Given the description of an element on the screen output the (x, y) to click on. 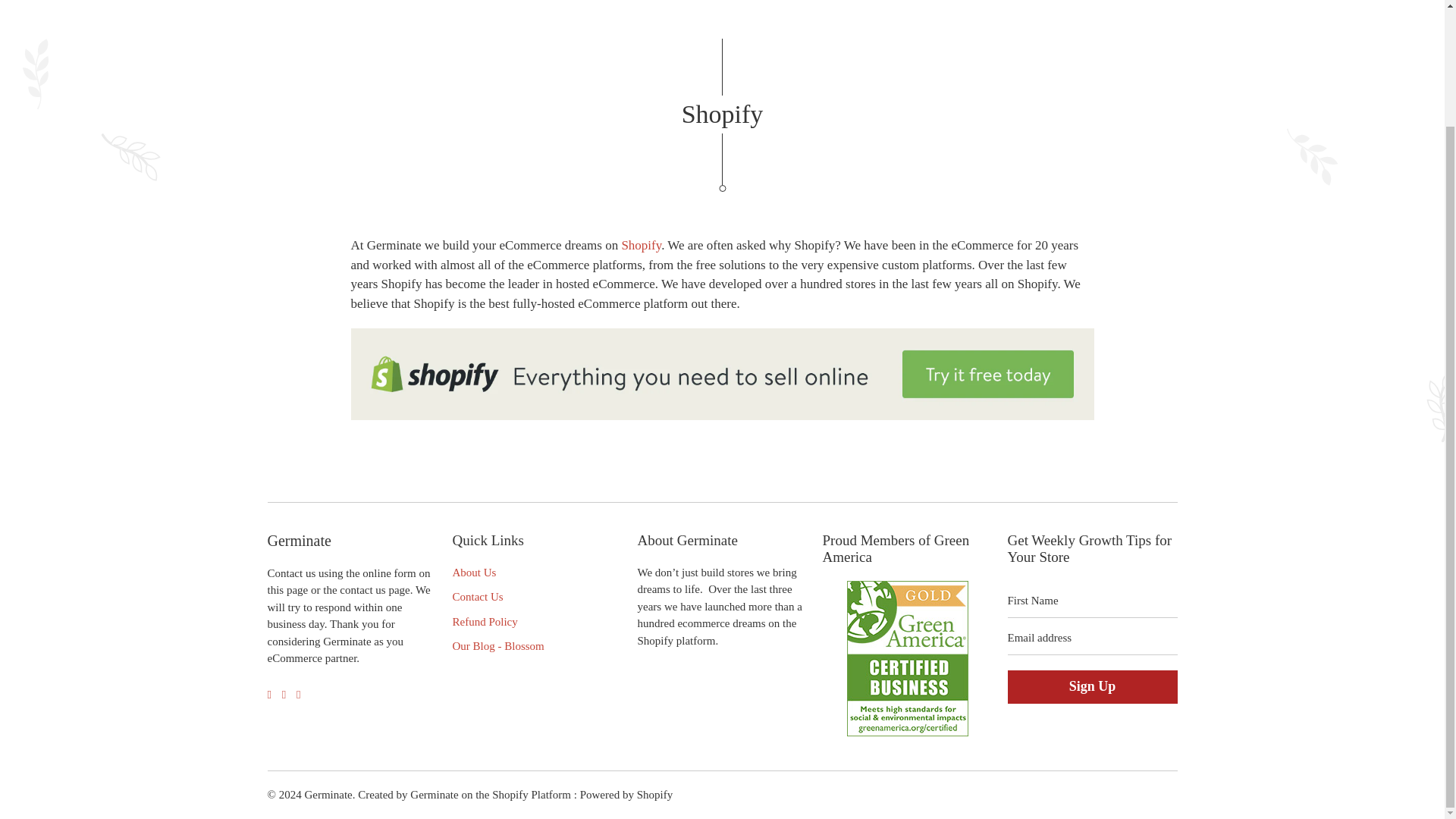
Shopify Free Trial (641, 245)
Sign Up (1091, 686)
Shopify Free Trial (721, 415)
Shopify (641, 245)
About Us (473, 572)
